Given the description of an element on the screen output the (x, y) to click on. 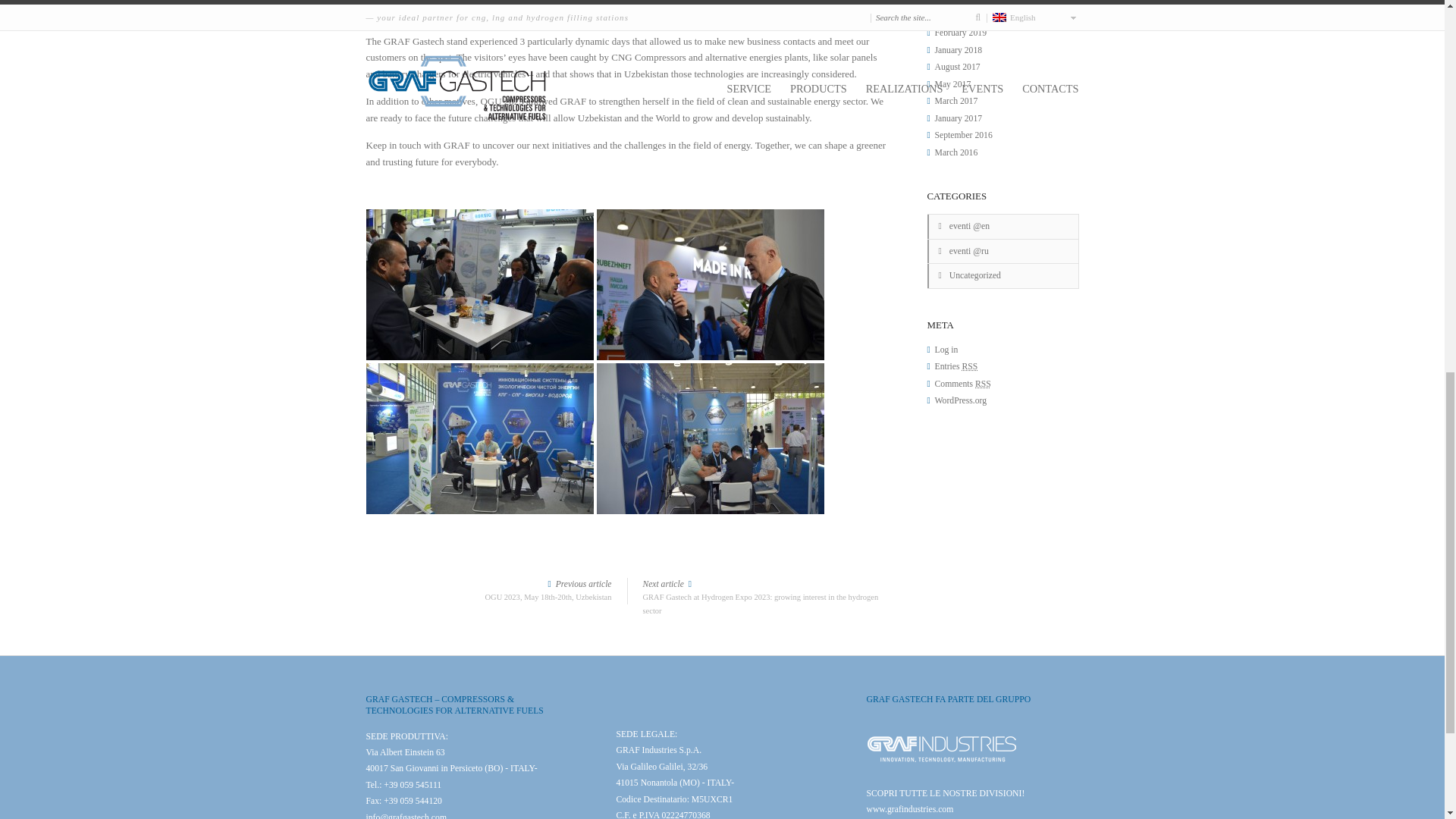
September 2019 (962, 2)
January 2018 (957, 50)
Really Simple Syndication (970, 366)
May 2017 (952, 84)
August 2017 (956, 67)
April 2019 (953, 16)
February 2019 (488, 589)
Really Simple Syndication (960, 32)
